Given the description of an element on the screen output the (x, y) to click on. 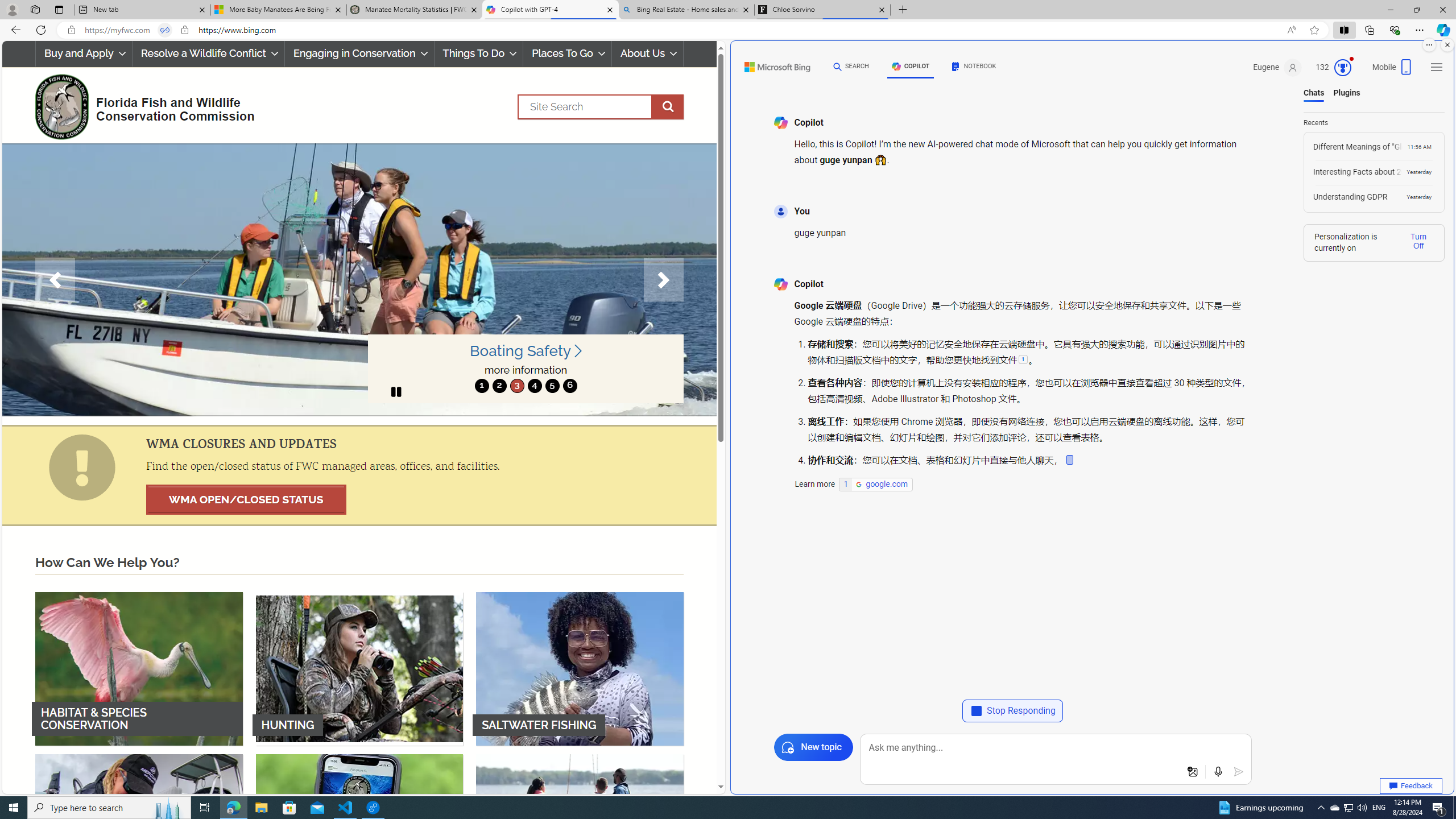
Manatee Mortality Statistics | FWC (414, 9)
Chat (837, 65)
COPILOT (910, 66)
Next (663, 279)
SEARCH (850, 66)
SEARCH (850, 66)
move to slide 3 (516, 385)
